Given the description of an element on the screen output the (x, y) to click on. 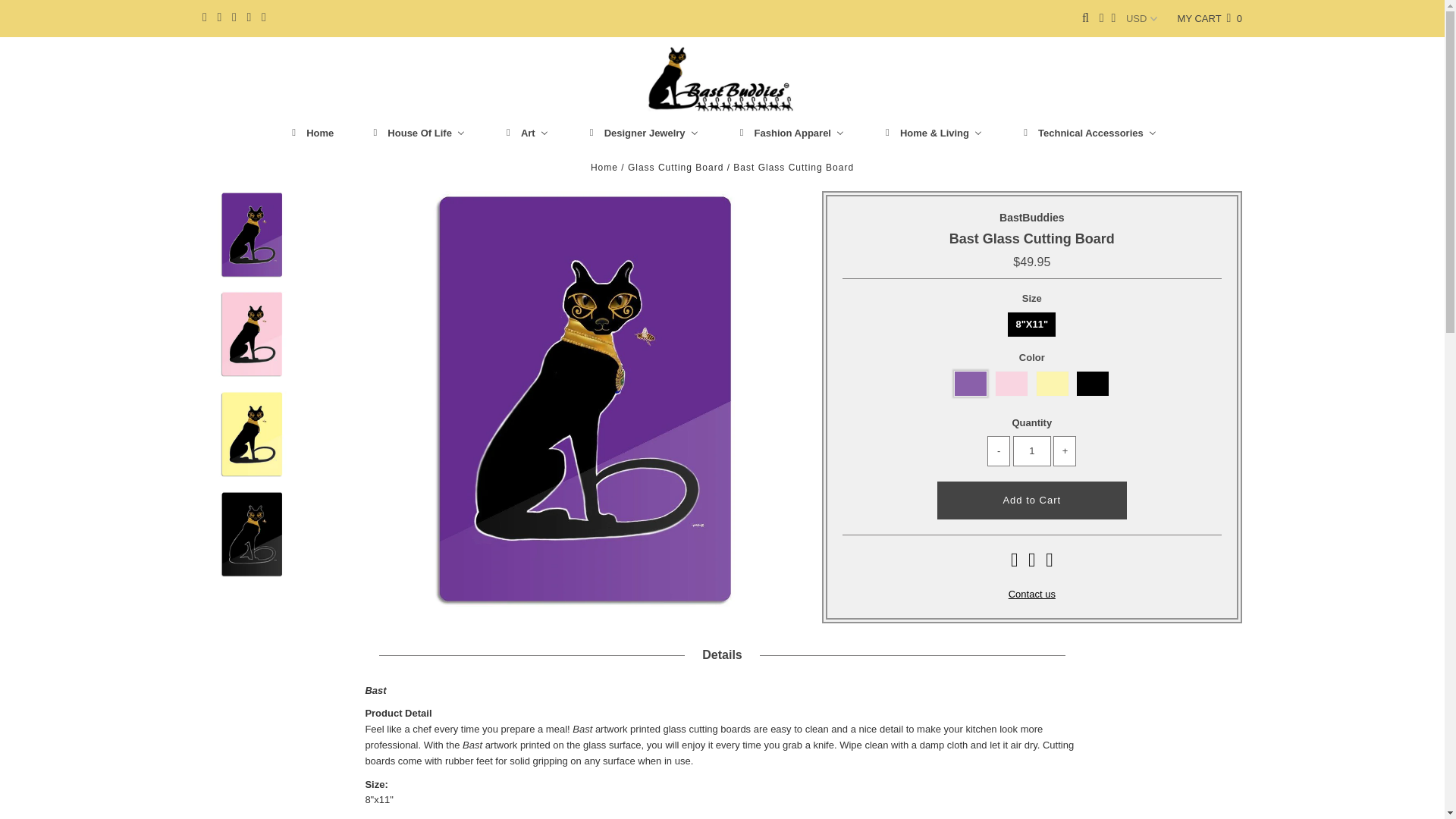
Add to Cart (1031, 500)
1 (1032, 450)
Home (309, 132)
Designer Jewelry (642, 132)
House Of Life (416, 132)
Fashion Apparel (790, 132)
Art (525, 132)
MY CART    0 (1209, 18)
